Given the description of an element on the screen output the (x, y) to click on. 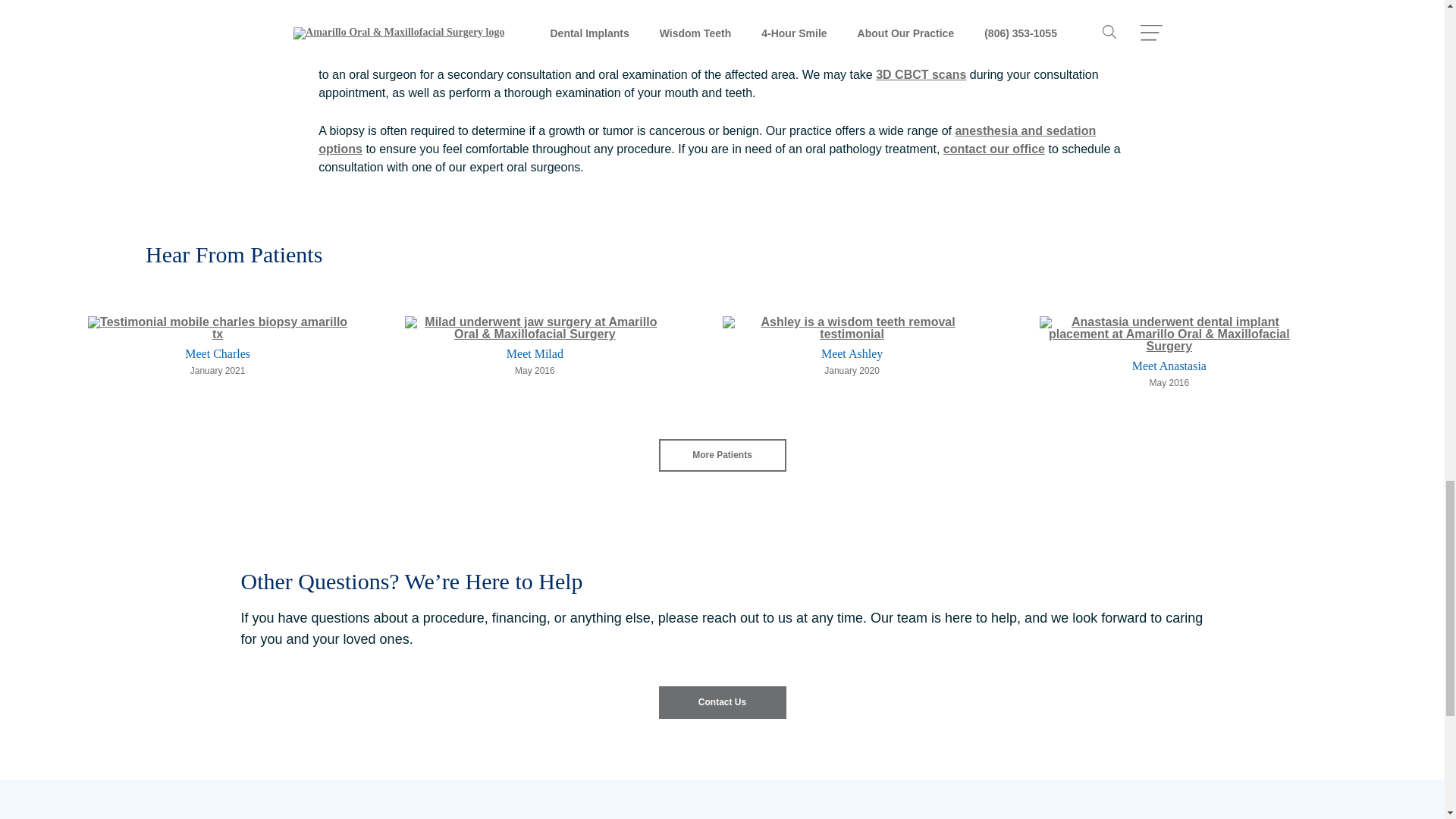
Contact our office in Amarillo, TX (994, 148)
Meet your oral surgeon Dr. Wilkinson (852, 38)
Meet your oral surgeon Dr. Graves (719, 38)
View your anesthesia options (707, 139)
Learn more about 3D imaging (921, 74)
